Given the description of an element on the screen output the (x, y) to click on. 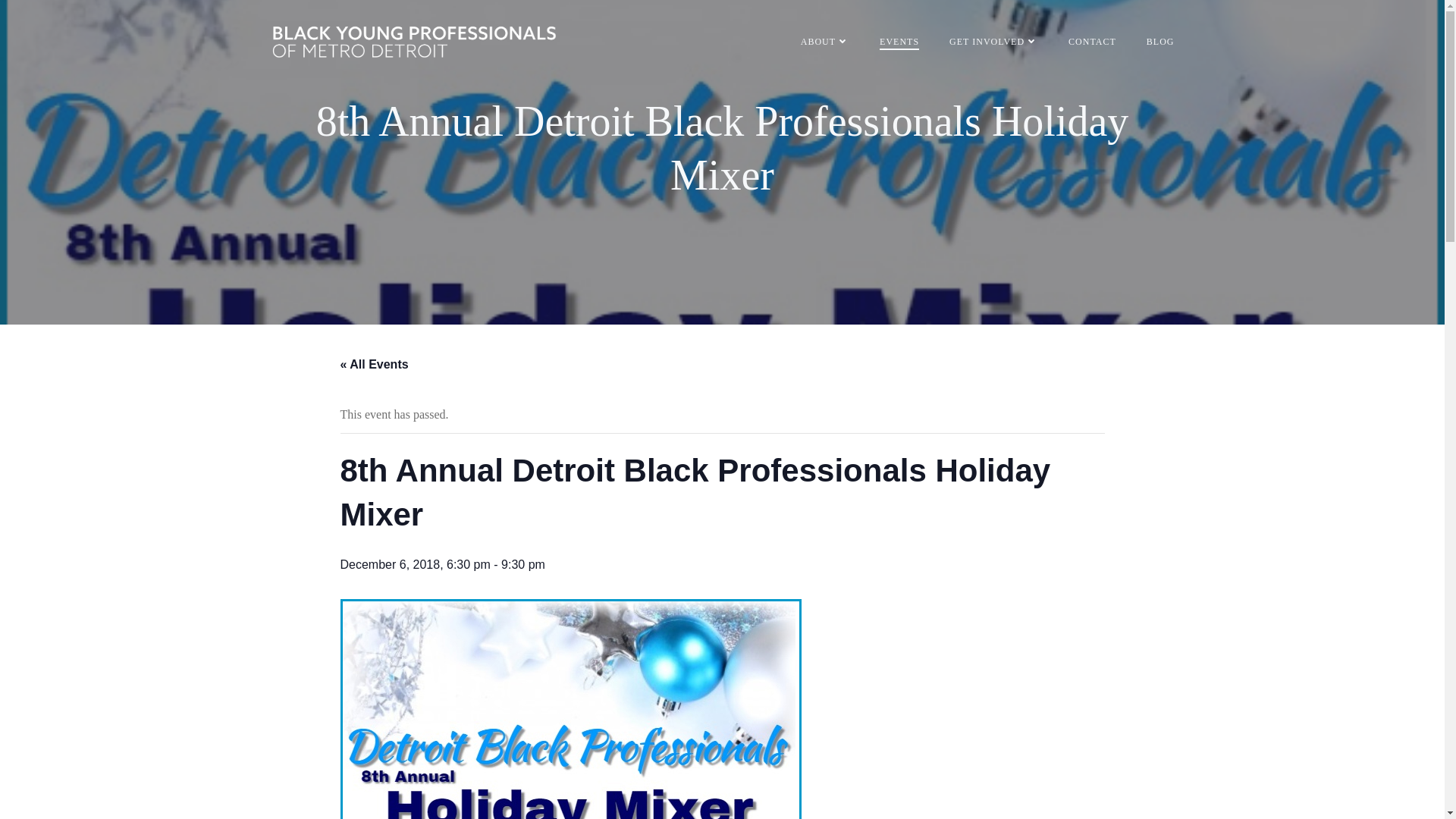
ABOUT (824, 41)
CONTACT (1092, 41)
EVENTS (898, 41)
BLOG (1160, 41)
GET INVOLVED (993, 41)
